Given the description of an element on the screen output the (x, y) to click on. 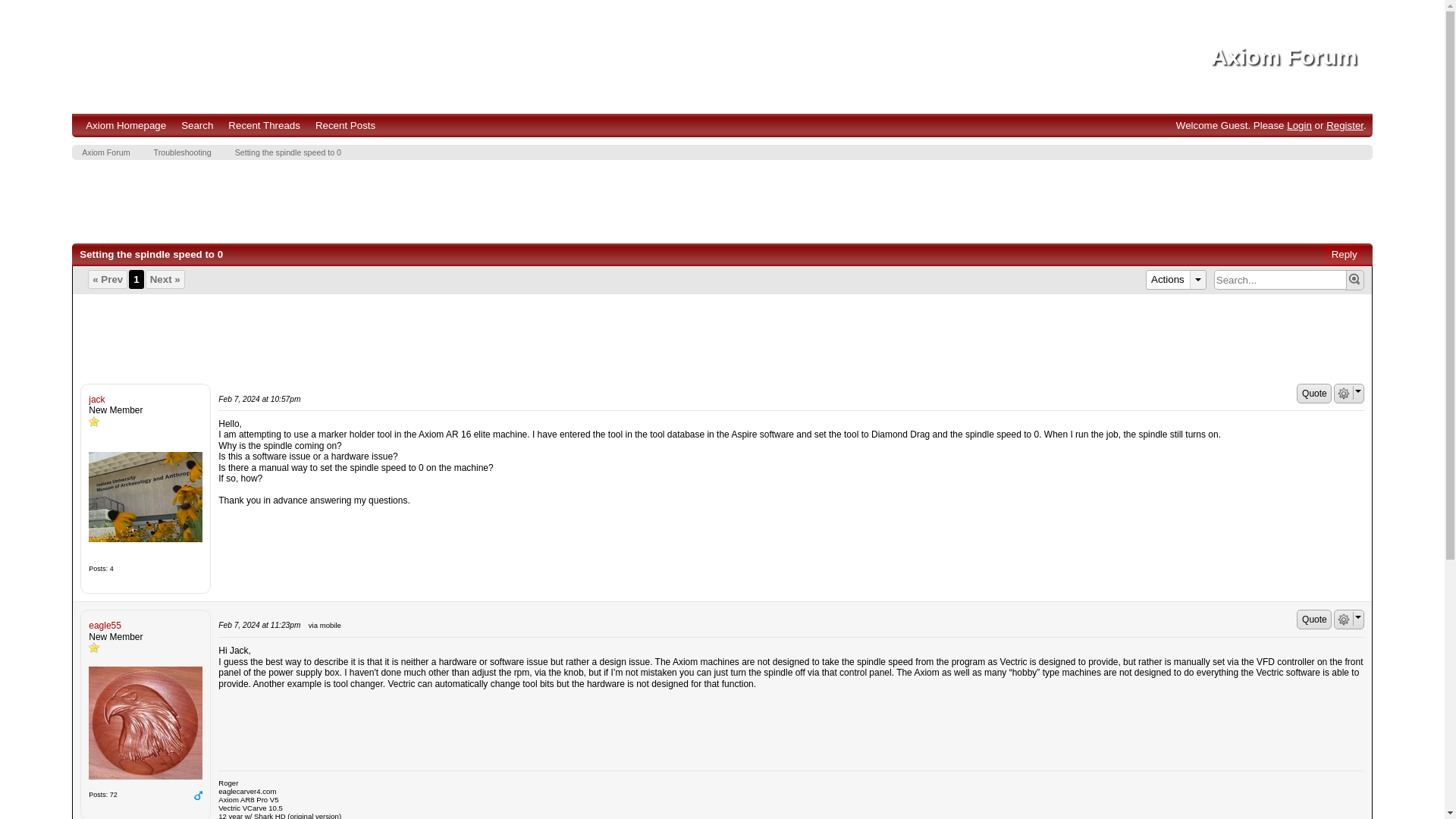
Post Options (1343, 619)
Axiom Homepage (125, 125)
Recent Posts (344, 125)
Login (1299, 125)
Recent Threads (264, 125)
Axiom Forum (102, 151)
Male (197, 795)
Setting the spindle speed to 0 (286, 151)
Troubleshooting (180, 151)
Axiom Forum (1282, 56)
Search (197, 125)
Post Options (1343, 393)
jack (145, 497)
